Given the description of an element on the screen output the (x, y) to click on. 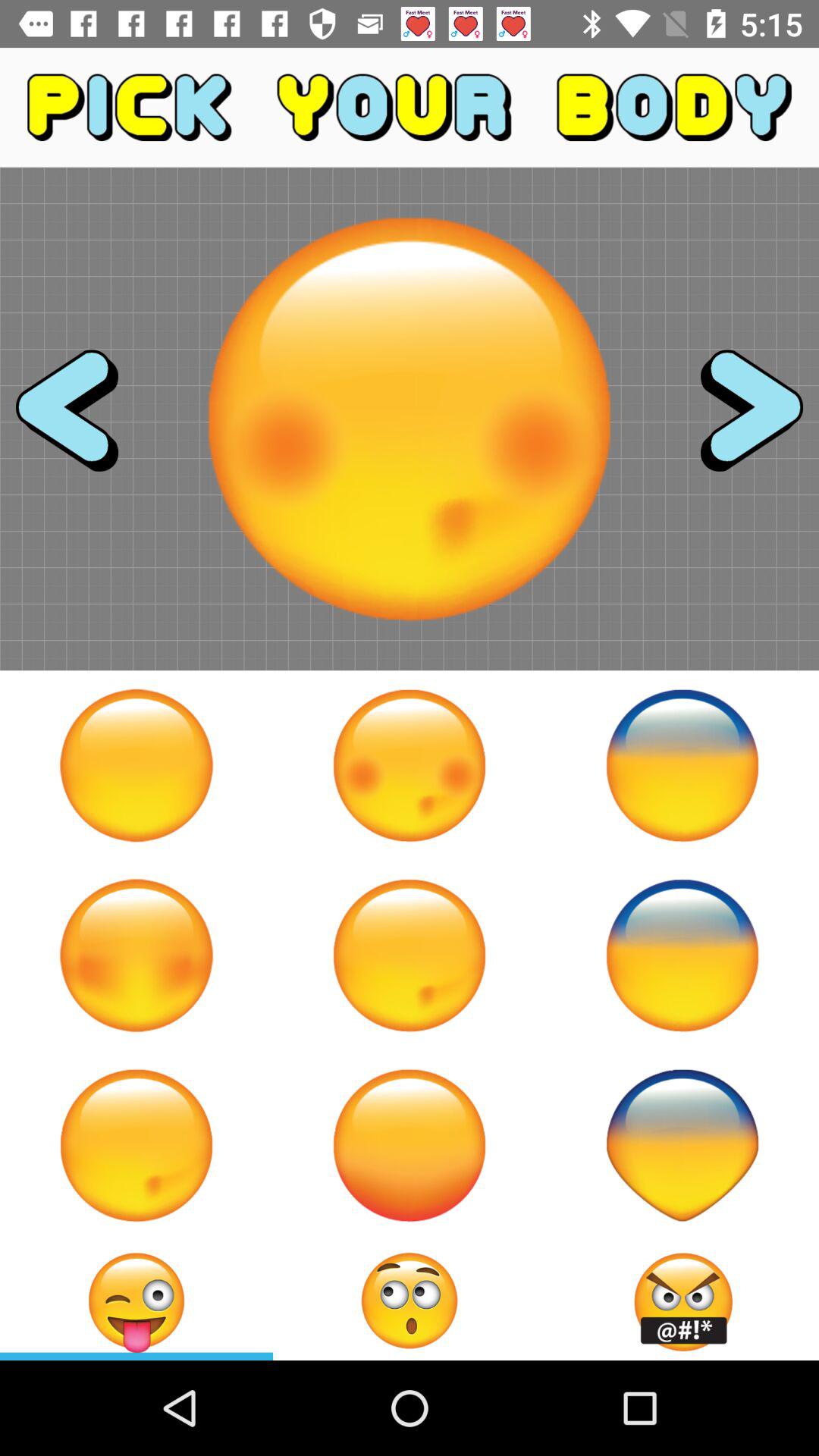
go to previous (81, 418)
